Given the description of an element on the screen output the (x, y) to click on. 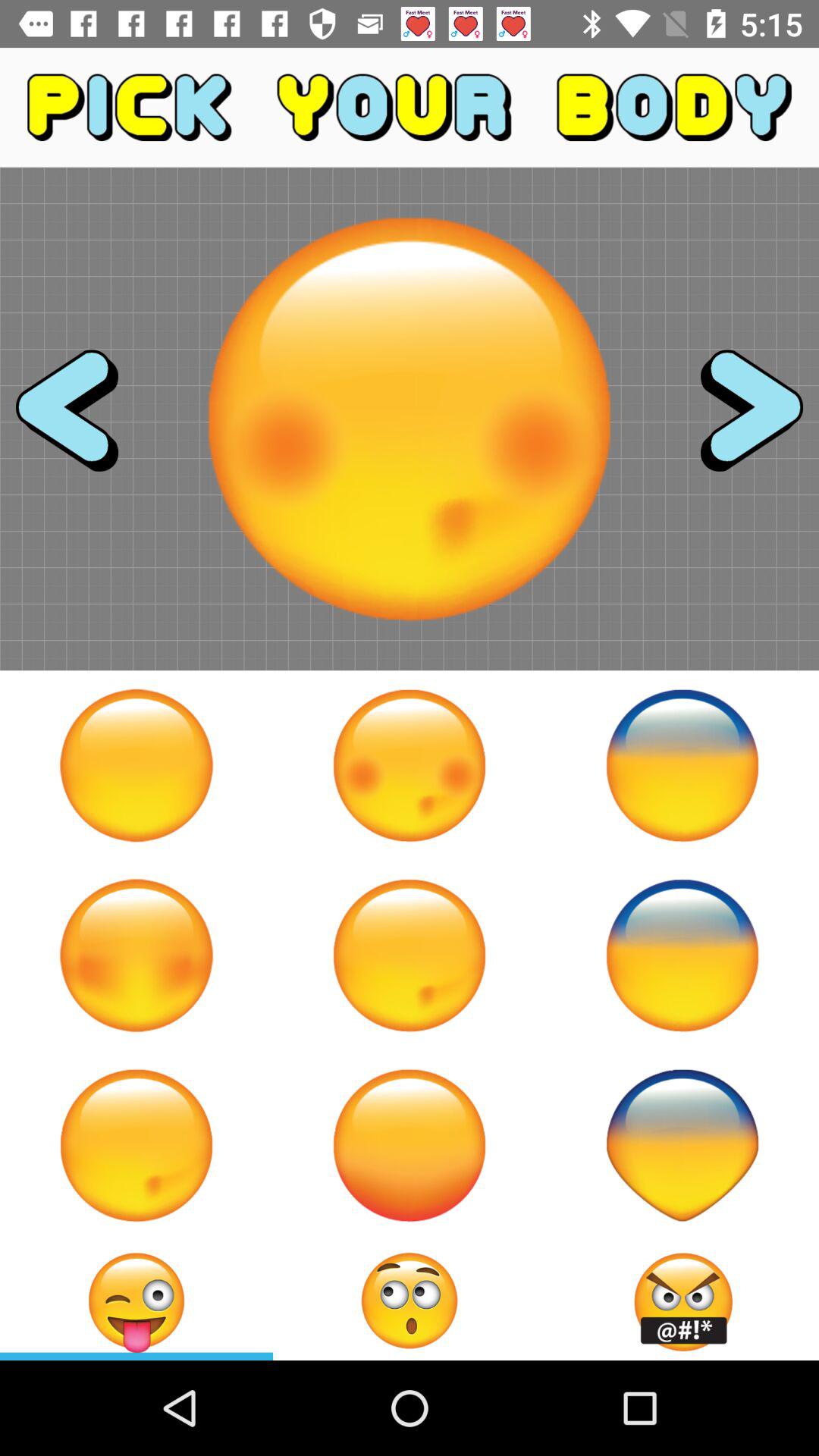
go to previous (81, 418)
